Given the description of an element on the screen output the (x, y) to click on. 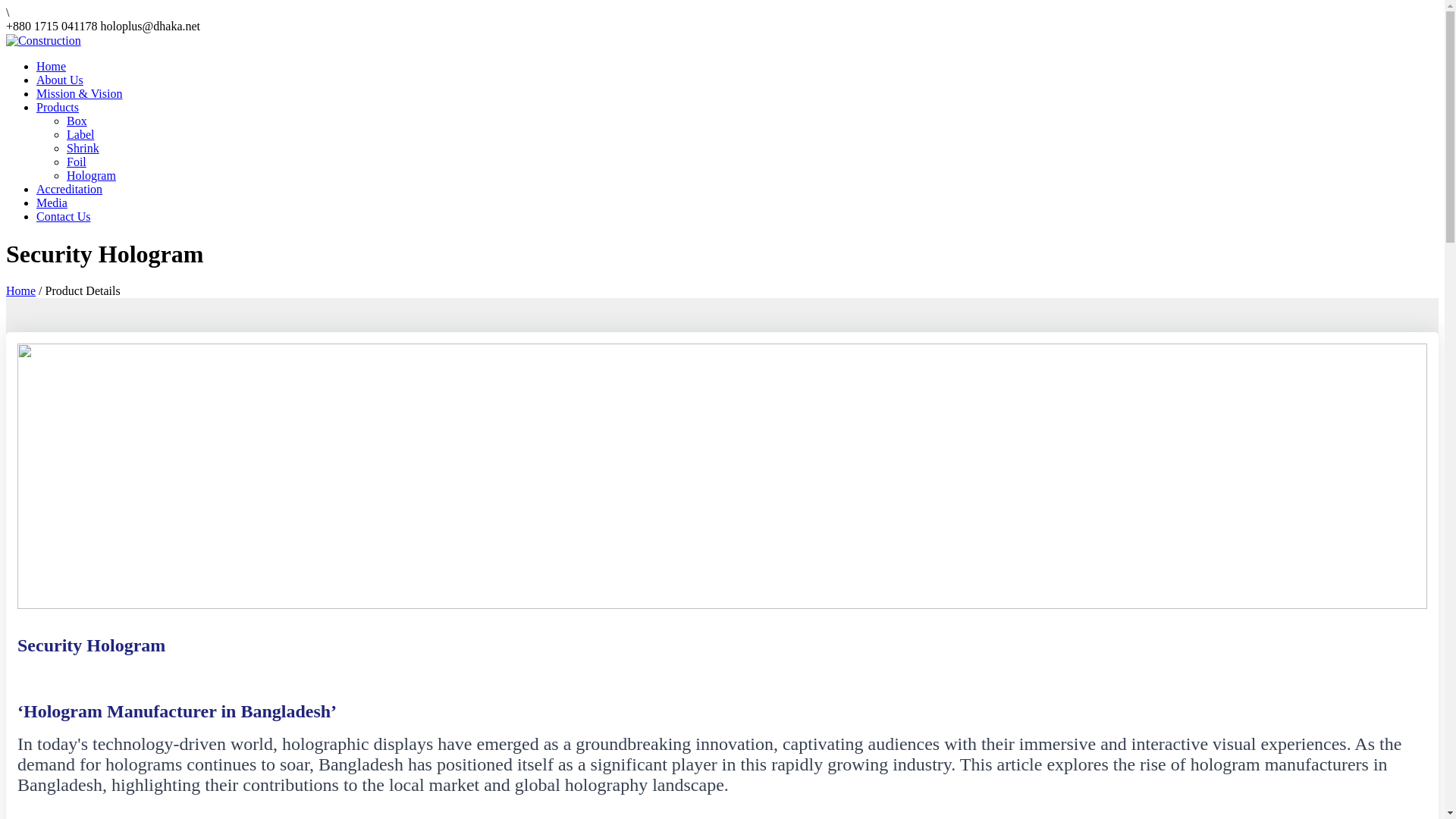
Construction Element type: hover (43, 39)
Media Element type: text (51, 202)
Home Element type: text (20, 290)
Home Element type: text (50, 65)
Foil Element type: text (76, 161)
Products Element type: text (57, 106)
Label Element type: text (80, 134)
Accreditation Element type: text (69, 188)
Shrink Element type: text (82, 147)
Mission & Vision Element type: text (79, 93)
About Us Element type: text (59, 79)
Contact Us Element type: text (63, 216)
Box Element type: text (76, 120)
Hologram Element type: text (91, 175)
